Given the description of an element on the screen output the (x, y) to click on. 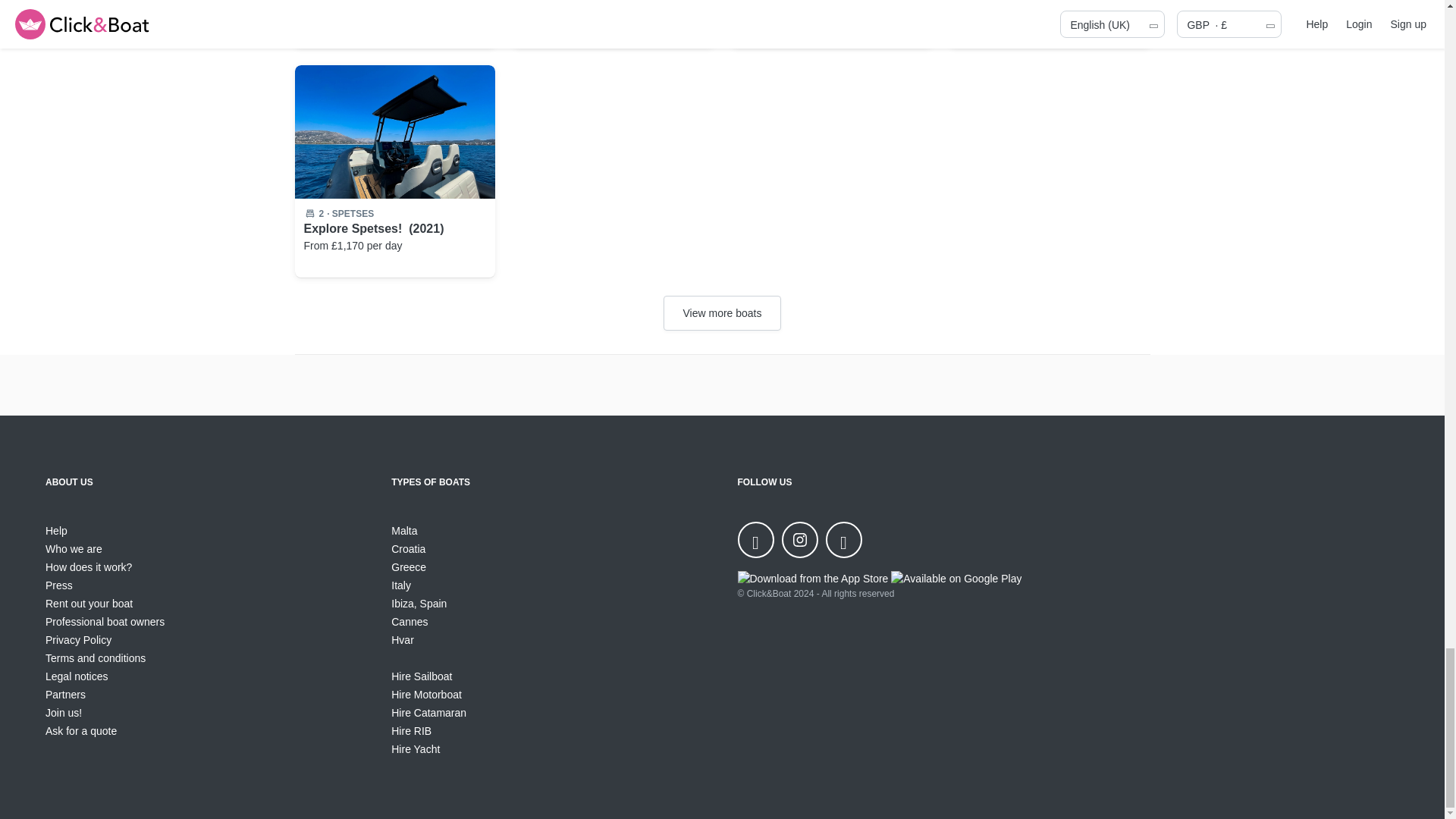
2 berths (320, 214)
